Given the description of an element on the screen output the (x, y) to click on. 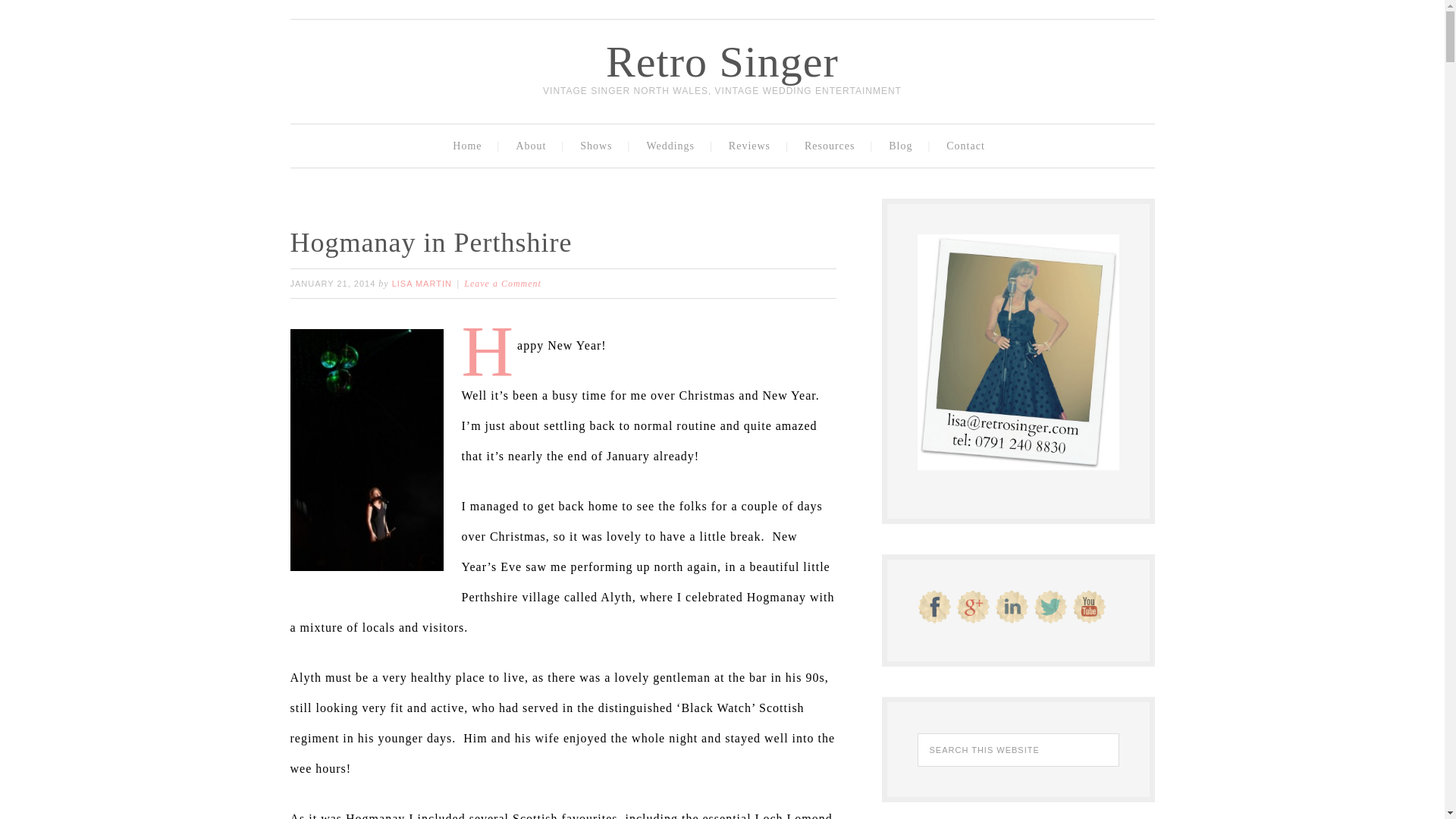
Reviews (753, 145)
Weddings (672, 145)
Hogmanay in Perthshire (430, 242)
LISA MARTIN (421, 283)
Retro Singer (721, 61)
About (533, 145)
Home (470, 145)
Resources (832, 145)
